Given the description of an element on the screen output the (x, y) to click on. 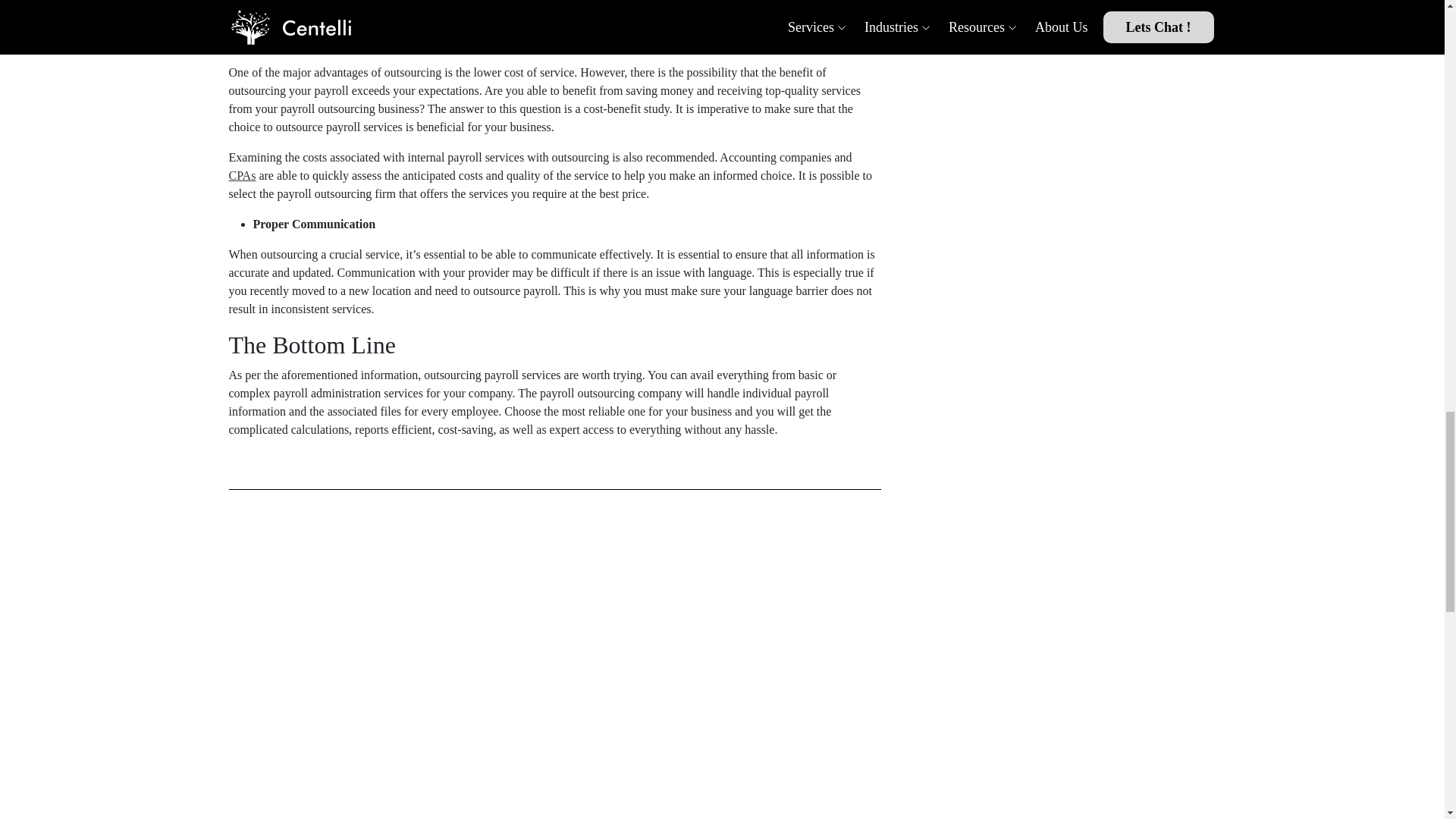
CPAs (242, 174)
